Given the description of an element on the screen output the (x, y) to click on. 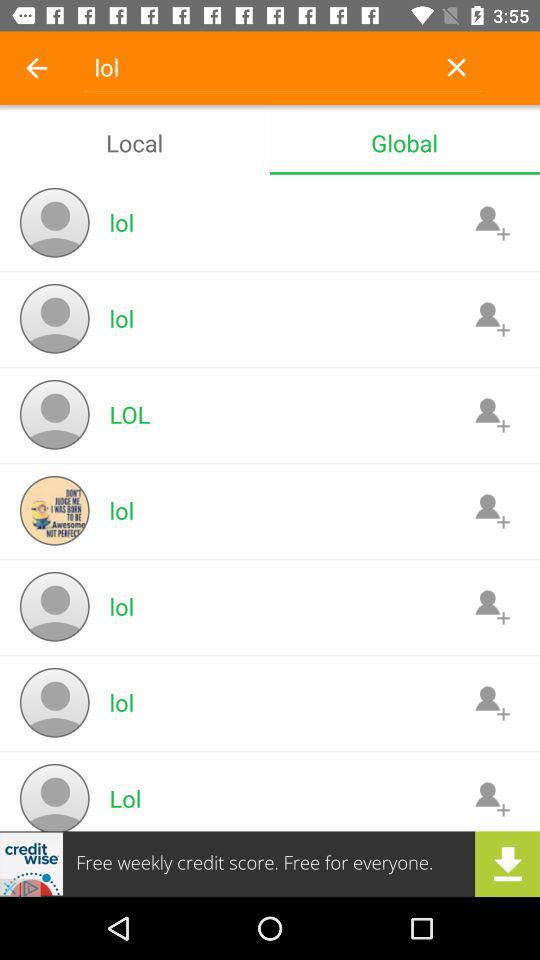
add person lol (492, 414)
